Given the description of an element on the screen output the (x, y) to click on. 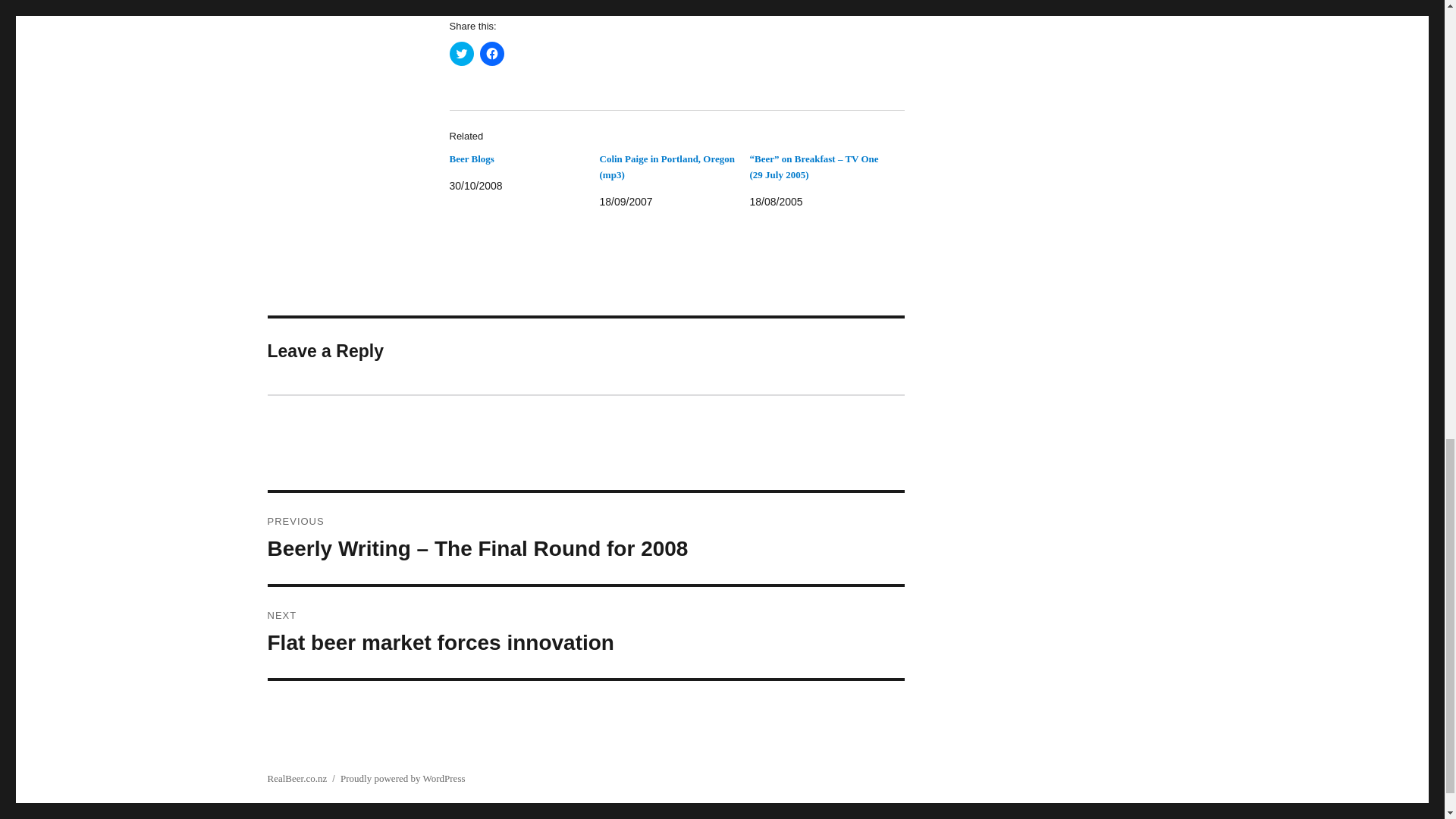
Beer Blogs (470, 158)
Click to share on Twitter (460, 53)
Beer Blogs (585, 632)
Click to share on Facebook (470, 158)
